Given the description of an element on the screen output the (x, y) to click on. 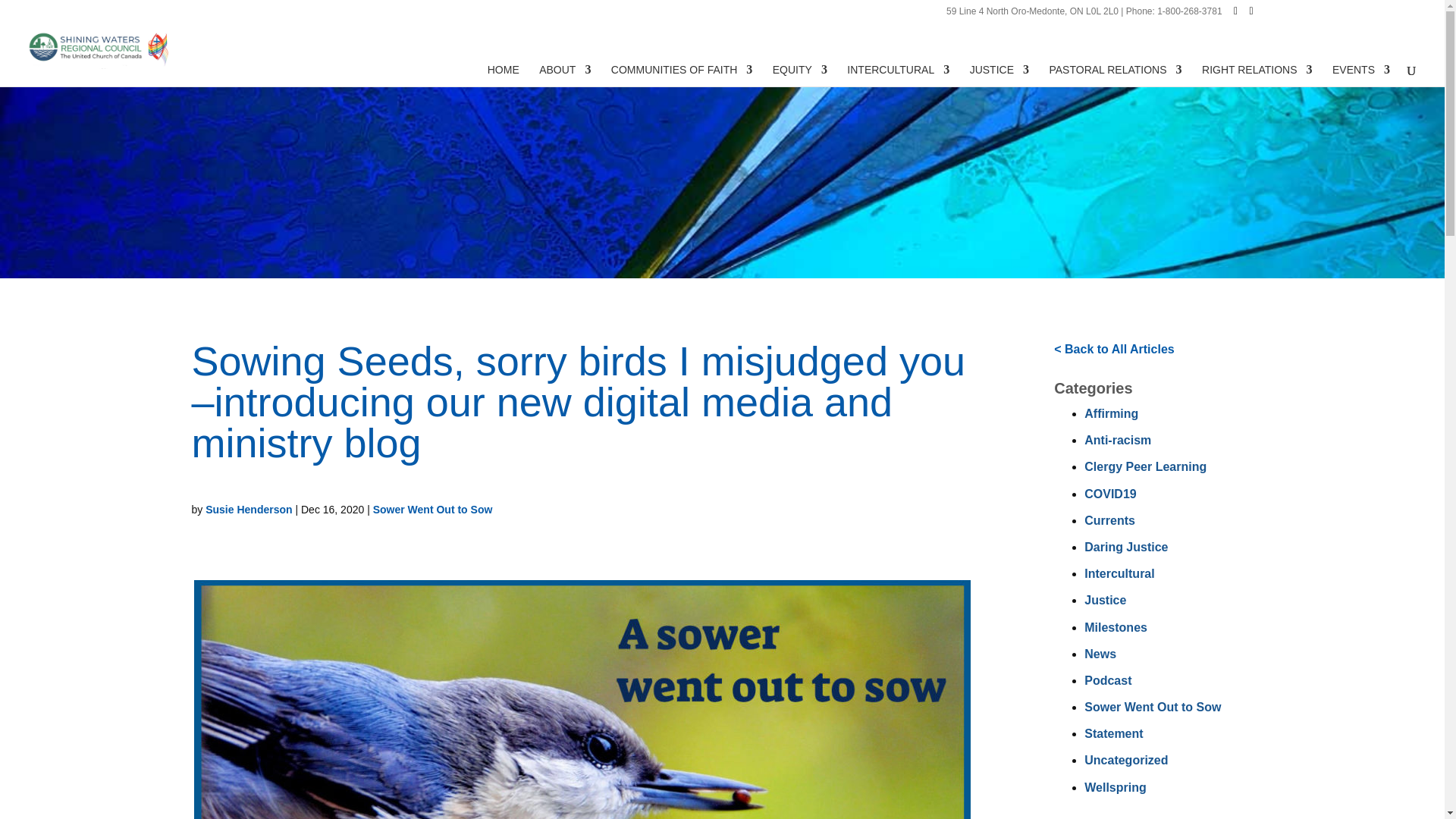
COMMUNITIES OF FAITH (681, 75)
ABOUT (564, 75)
Posts by Susie Henderson (248, 509)
HOME (503, 75)
